Given the description of an element on the screen output the (x, y) to click on. 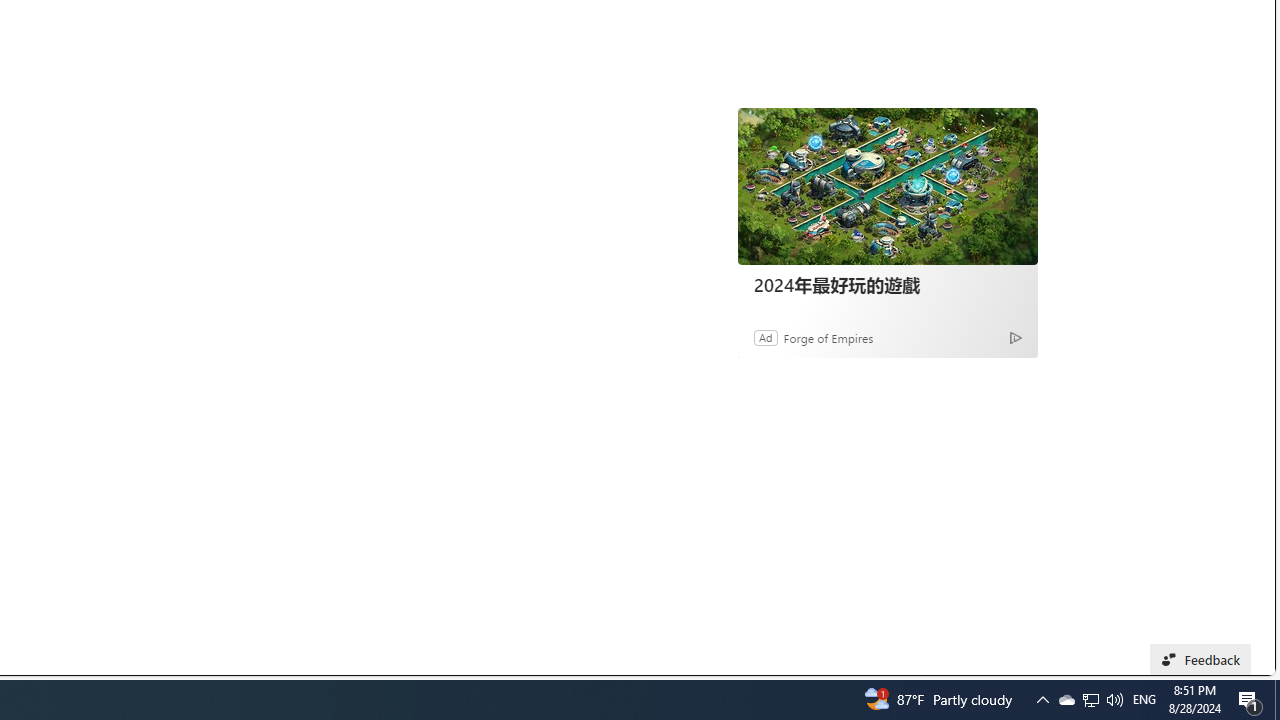
Forge of Empires (828, 337)
